Given the description of an element on the screen output the (x, y) to click on. 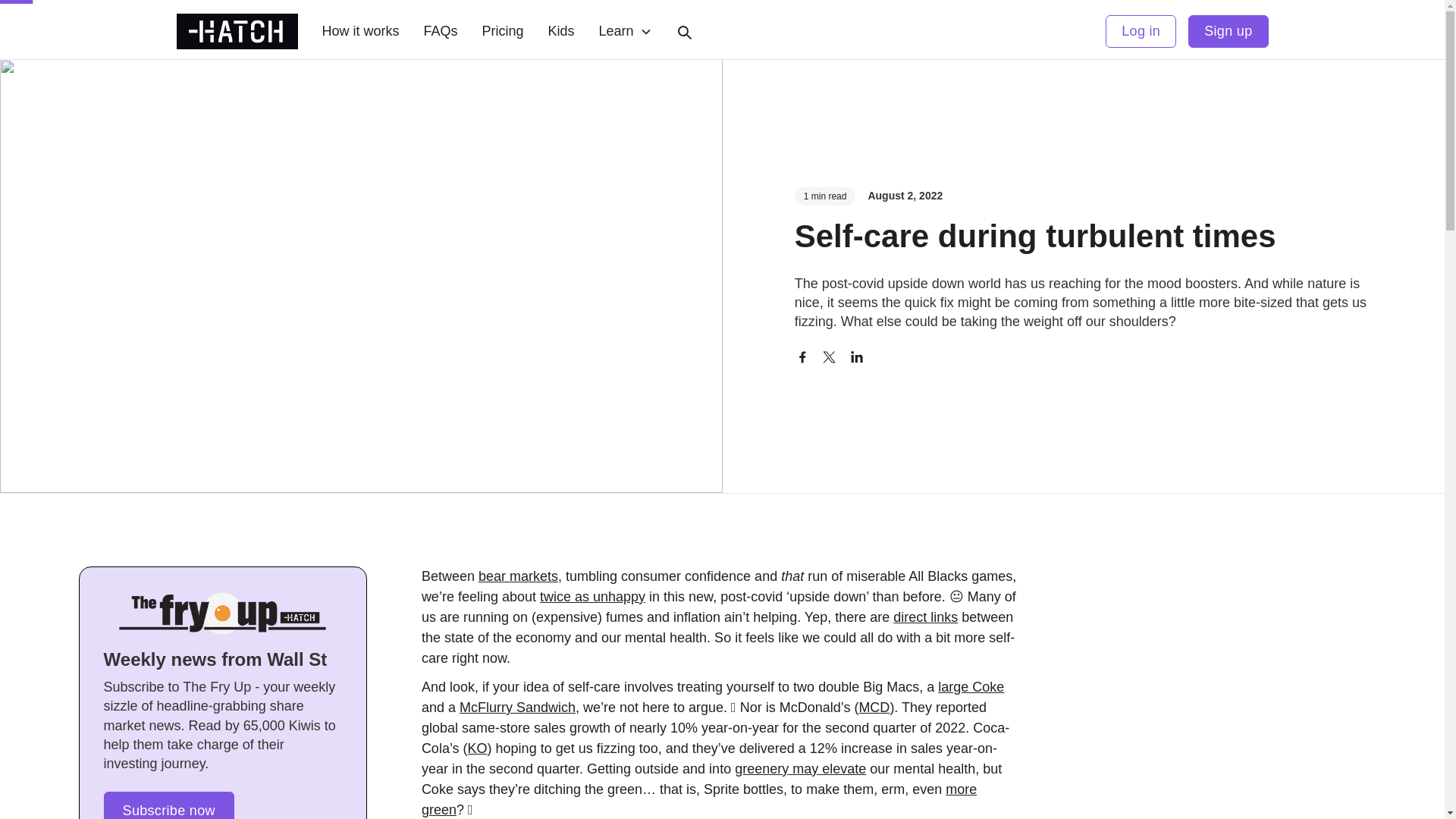
Subscribe now (168, 805)
bear markets (518, 575)
direct links (925, 616)
MCD (874, 707)
large Coke (970, 686)
McFlurry Sandwich (517, 707)
Log in (1140, 31)
Kids (560, 31)
KO (477, 748)
How it works (359, 31)
